Given the description of an element on the screen output the (x, y) to click on. 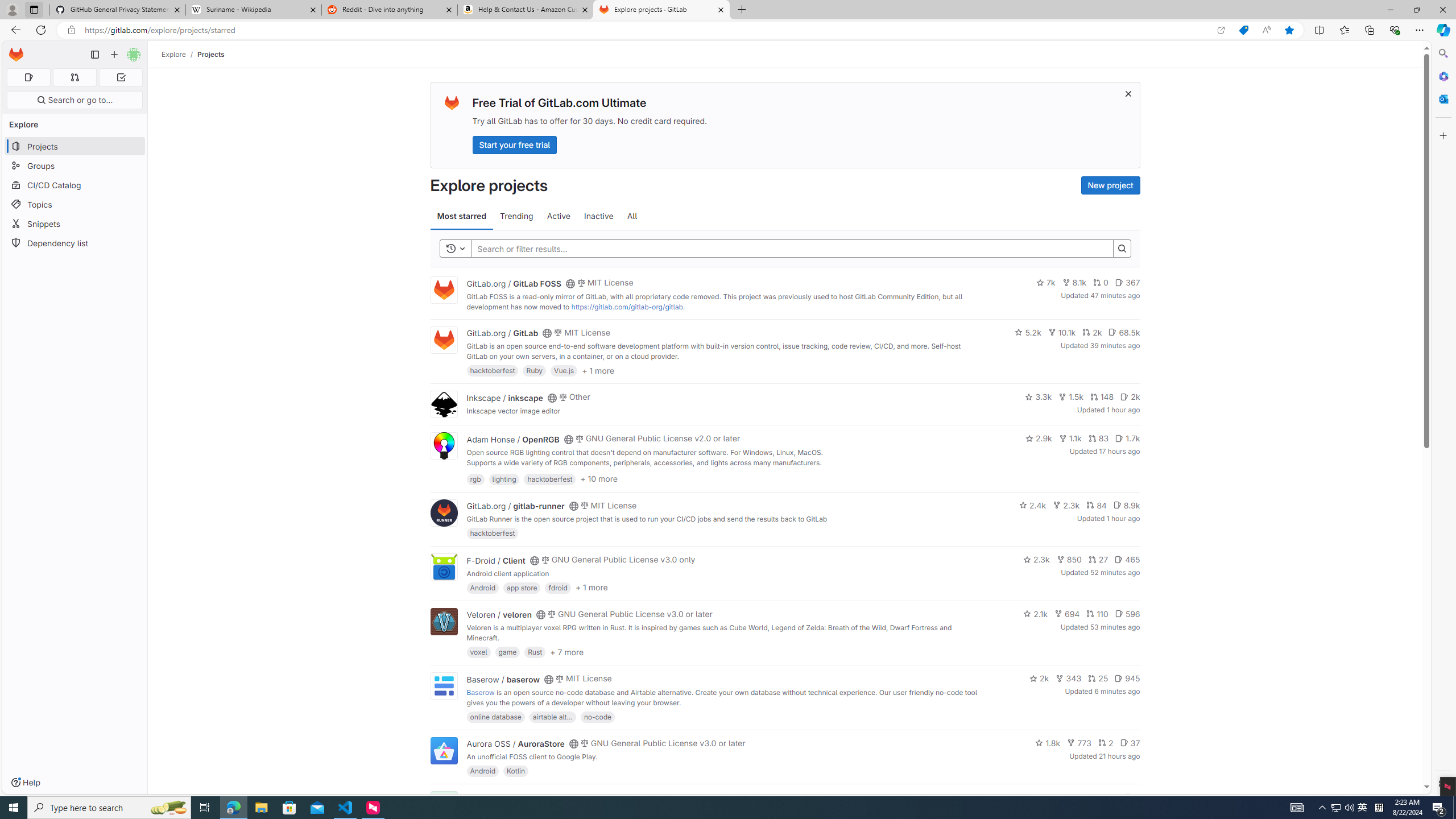
1.4k (1054, 797)
+ 1 more (591, 587)
465 (1127, 559)
airtable alt... (552, 715)
Reddit - Dive into anything (390, 9)
Baserow (480, 691)
GitLab.org / gitlab-runner (514, 506)
Merge requests 0 (74, 76)
Topics (74, 203)
Homepage (16, 54)
83 (1098, 438)
Ruby (533, 370)
Create new... (113, 54)
